Given the description of an element on the screen output the (x, y) to click on. 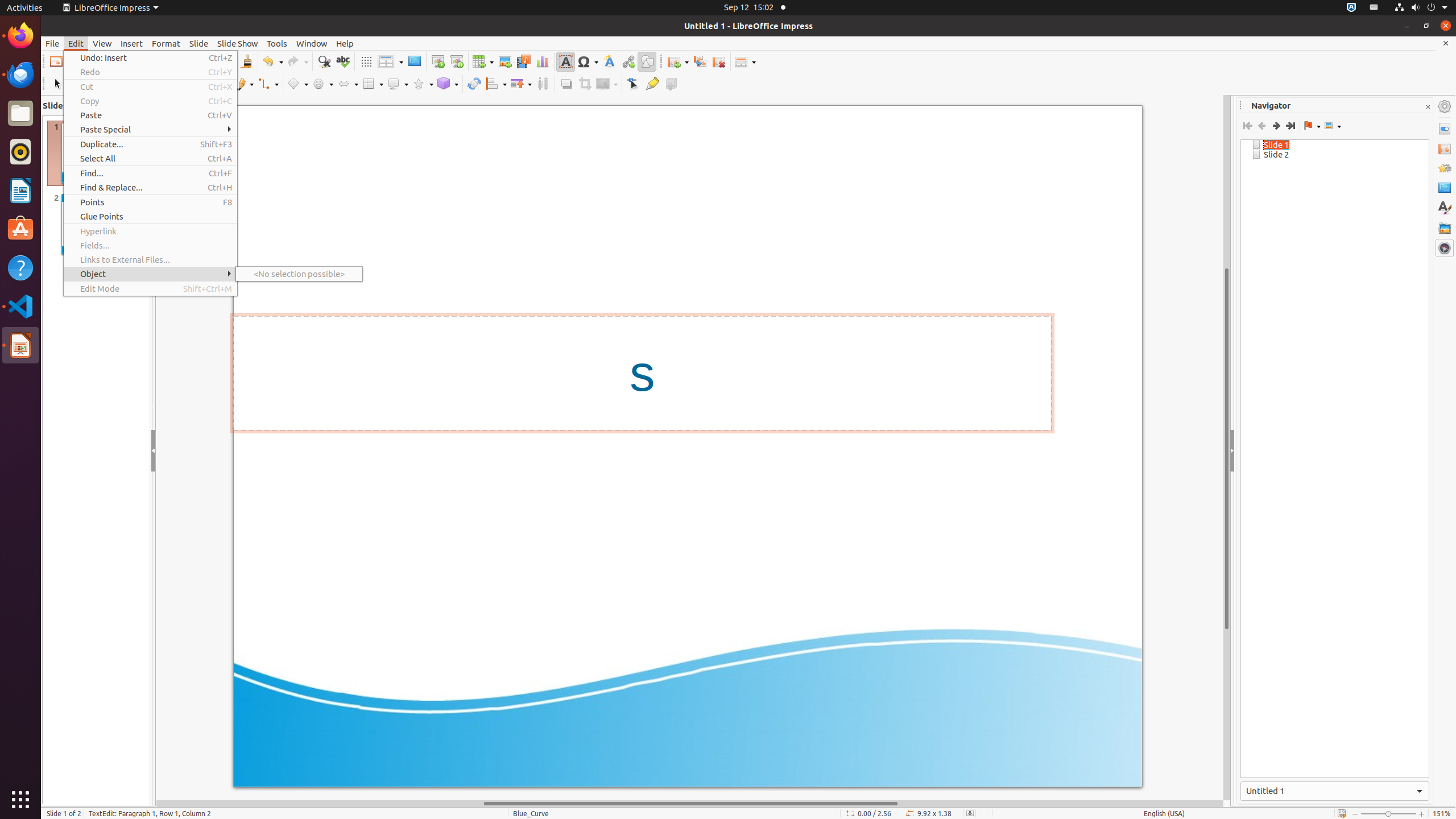
Show Shapes Element type: push-button (1332, 125)
Find & Replace... Element type: menu-item (150, 187)
First Slide Element type: push-button (1247, 125)
